Given the description of an element on the screen output the (x, y) to click on. 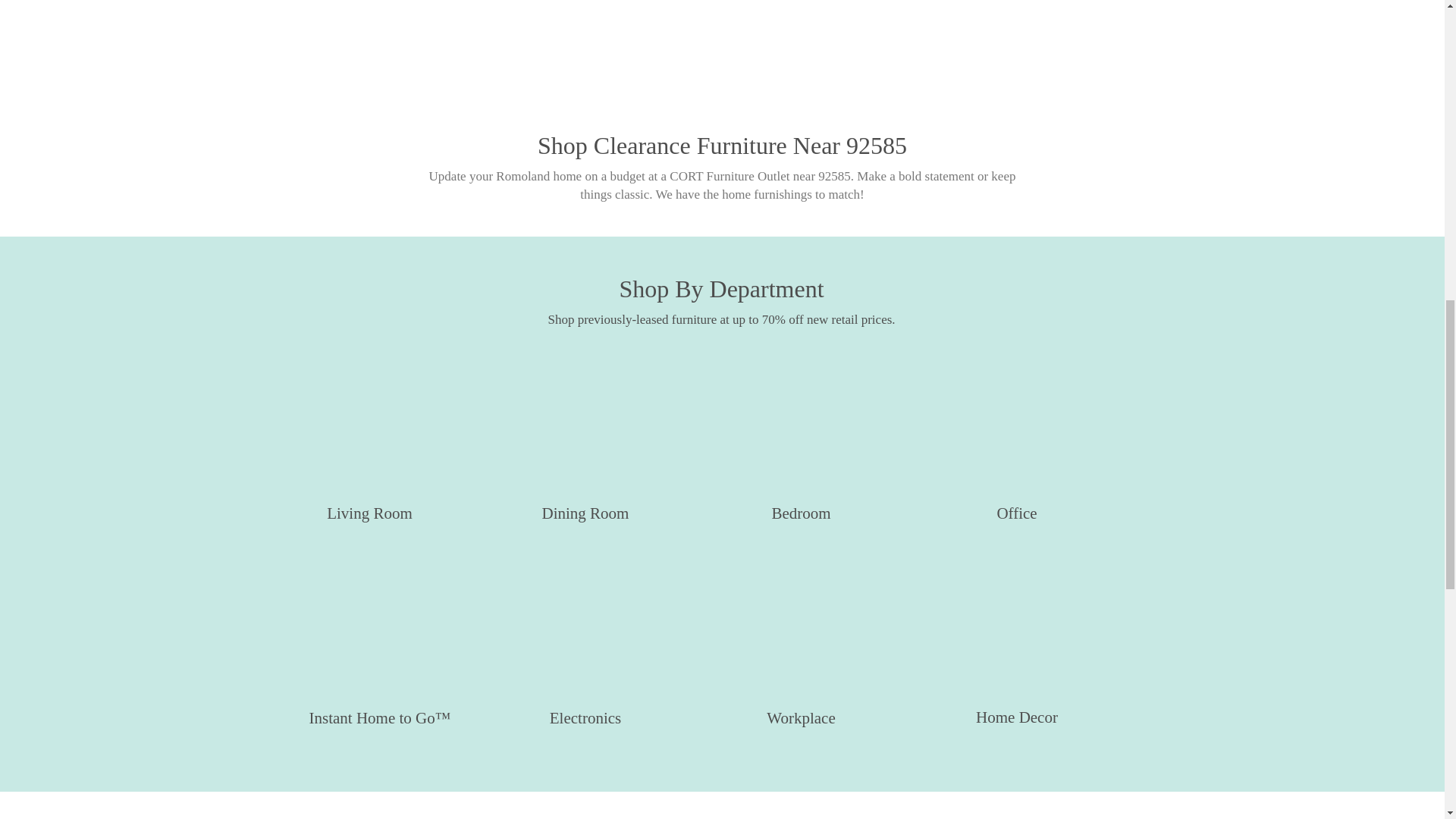
Living Room (369, 444)
Dining Room (584, 444)
